Given the description of an element on the screen output the (x, y) to click on. 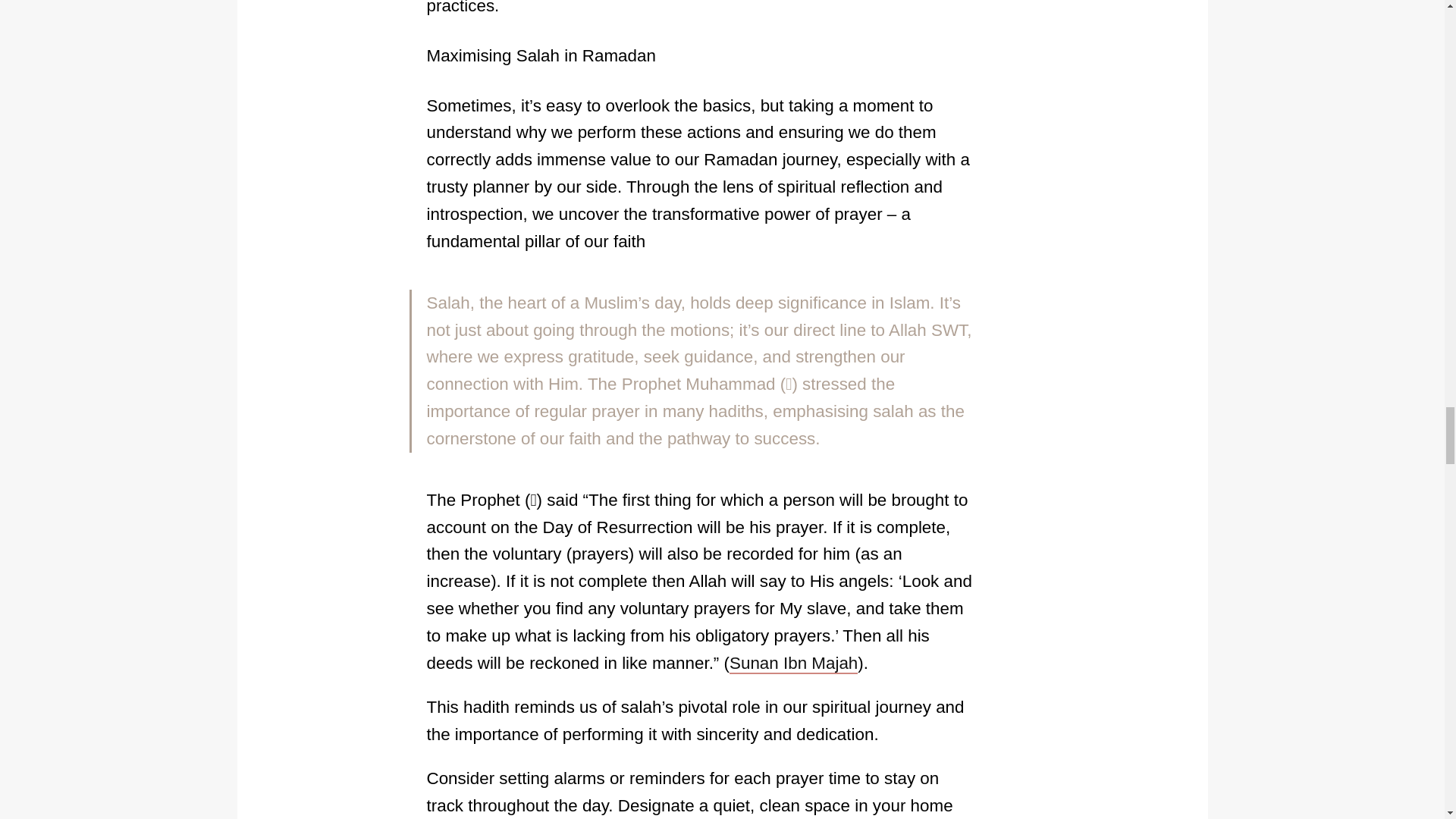
Sunan Ibn Majah (793, 663)
